Given the description of an element on the screen output the (x, y) to click on. 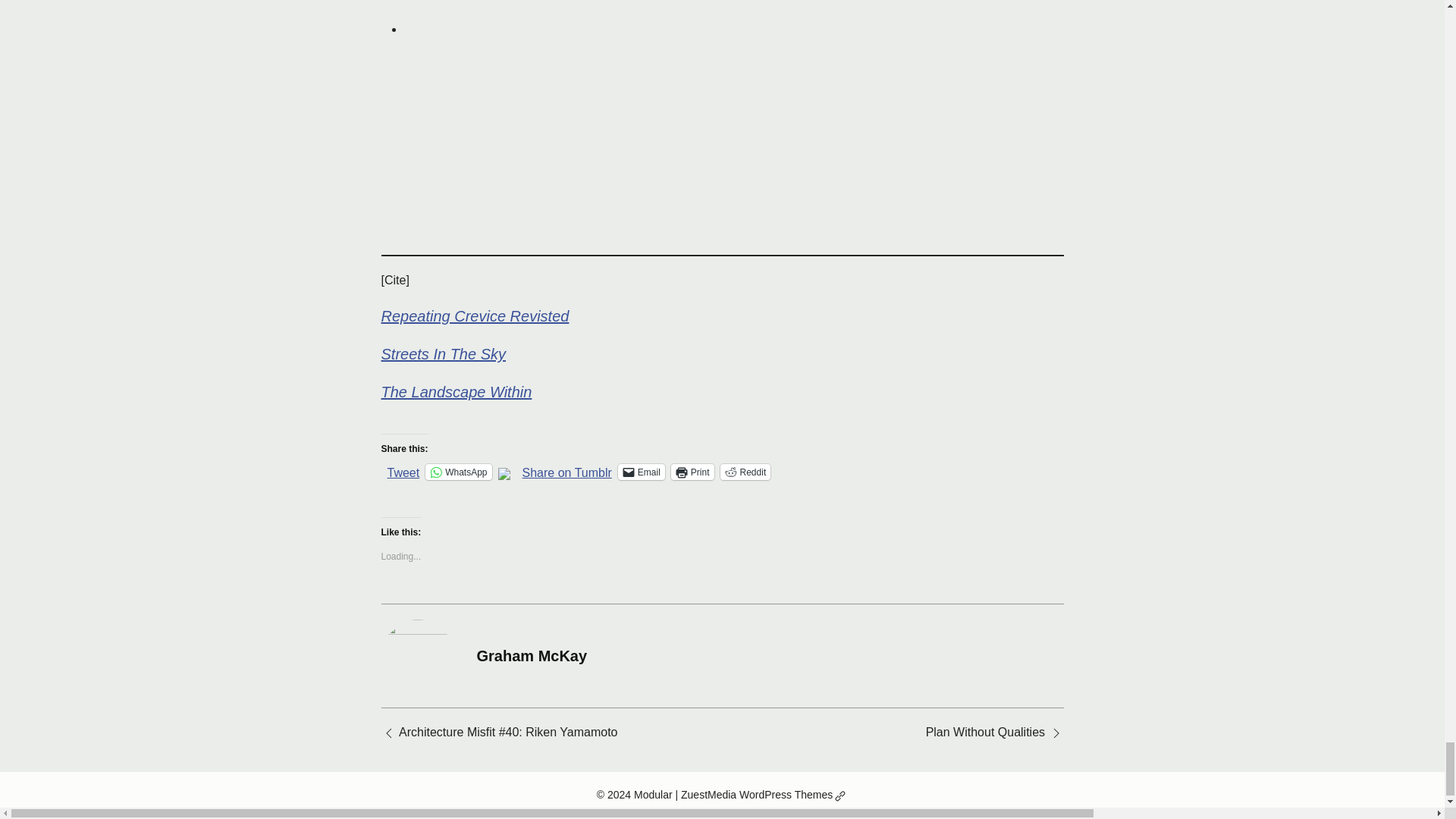
Share on Tumblr (566, 470)
WhatsApp (458, 471)
The Landscape Within (455, 392)
Print (692, 471)
Repeating Crevice Revisted (474, 315)
Reddit (745, 471)
Tweet (403, 470)
Click to print (692, 471)
Streets In The Sky (442, 353)
Email (641, 471)
Click to email a link to a friend (641, 471)
Plan Without Qualities (985, 731)
Graham McKay (531, 655)
Share on Tumblr (566, 470)
Click to share on Reddit (745, 471)
